Given the description of an element on the screen output the (x, y) to click on. 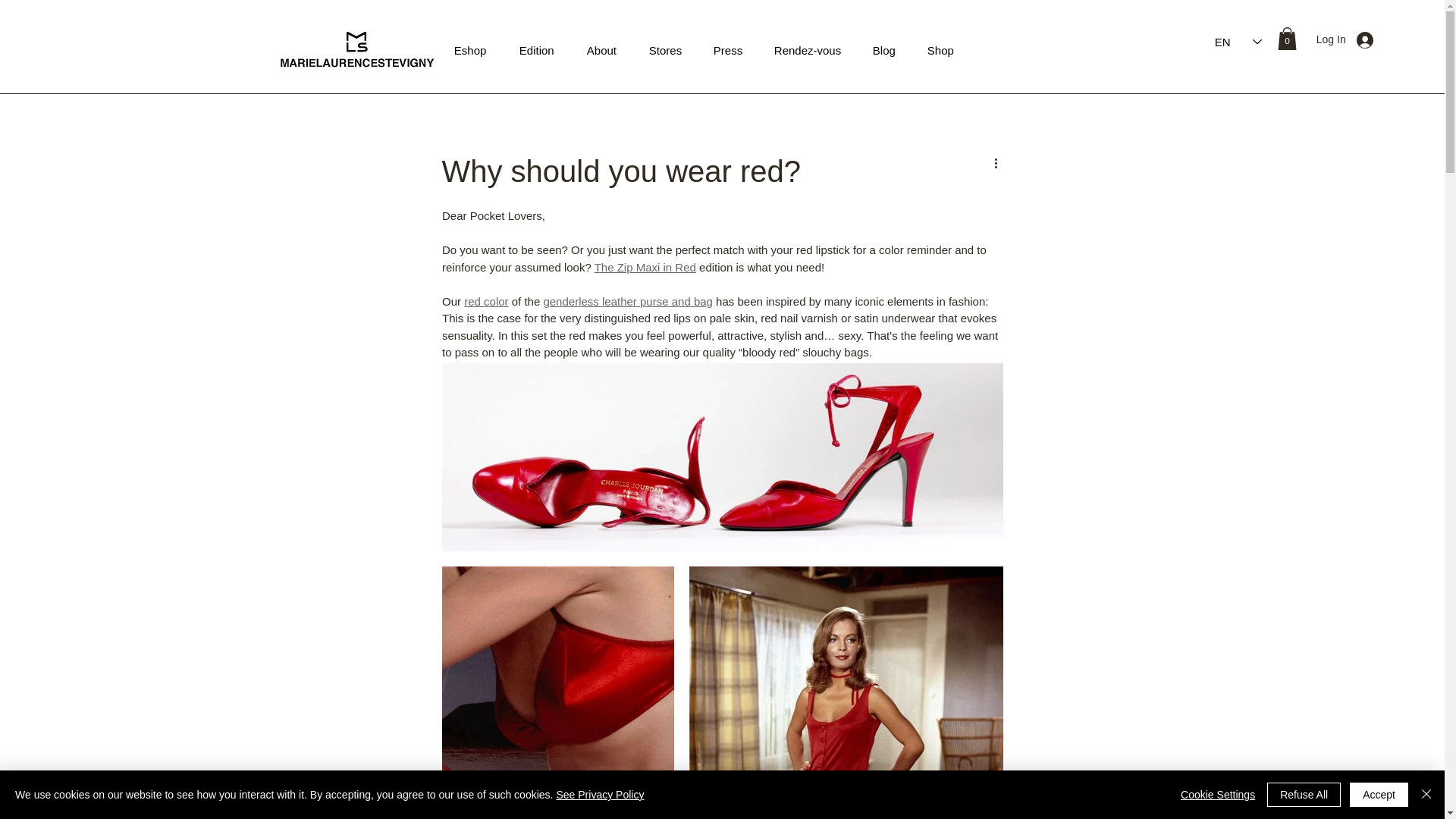
Stores (669, 50)
Log In (1345, 40)
Shop (944, 50)
Edition (541, 50)
Rendez-vous (811, 50)
The Zip Maxi in Red (644, 266)
About (606, 50)
Blog (888, 50)
Eshop (475, 50)
red color (486, 300)
